Given the description of an element on the screen output the (x, y) to click on. 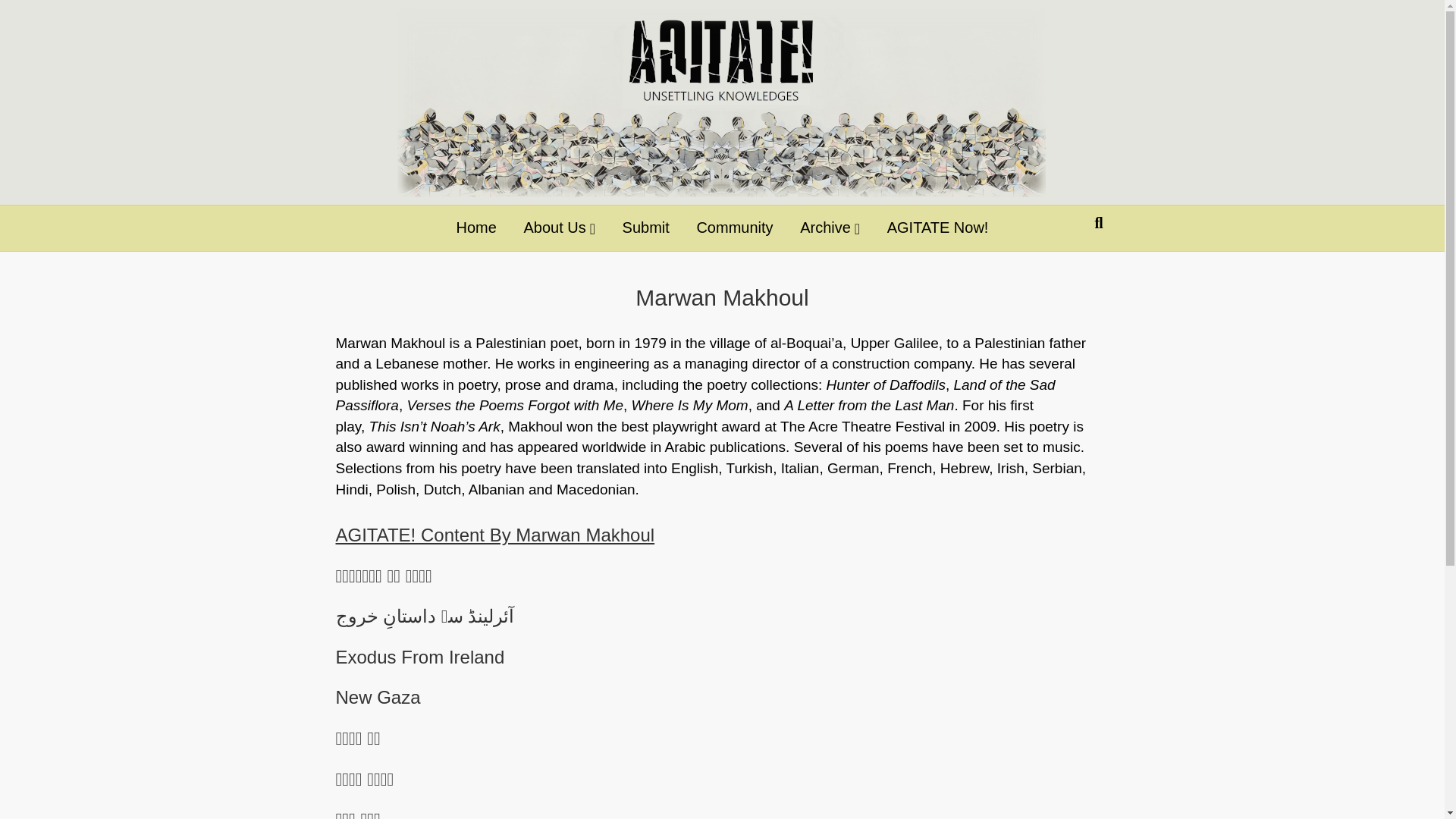
Home (476, 227)
Community (734, 227)
About Us (559, 227)
New Gaza (377, 697)
Submit (646, 227)
Exodus From Ireland (418, 657)
AGITATE Now! (938, 227)
Archive (829, 227)
